Given the description of an element on the screen output the (x, y) to click on. 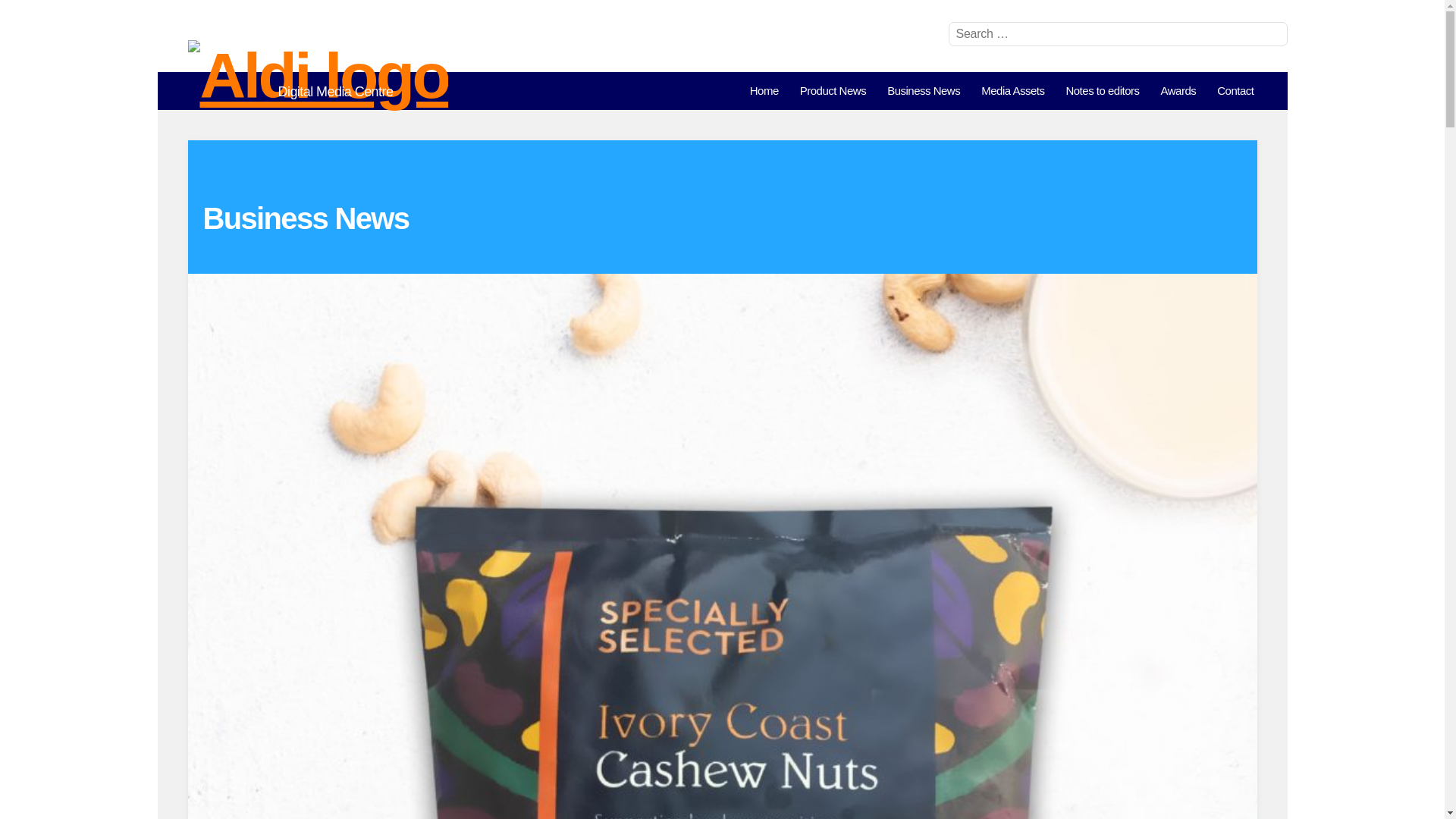
Media Assets (1012, 90)
Product News (832, 90)
Business News (923, 90)
Home (764, 90)
